Given the description of an element on the screen output the (x, y) to click on. 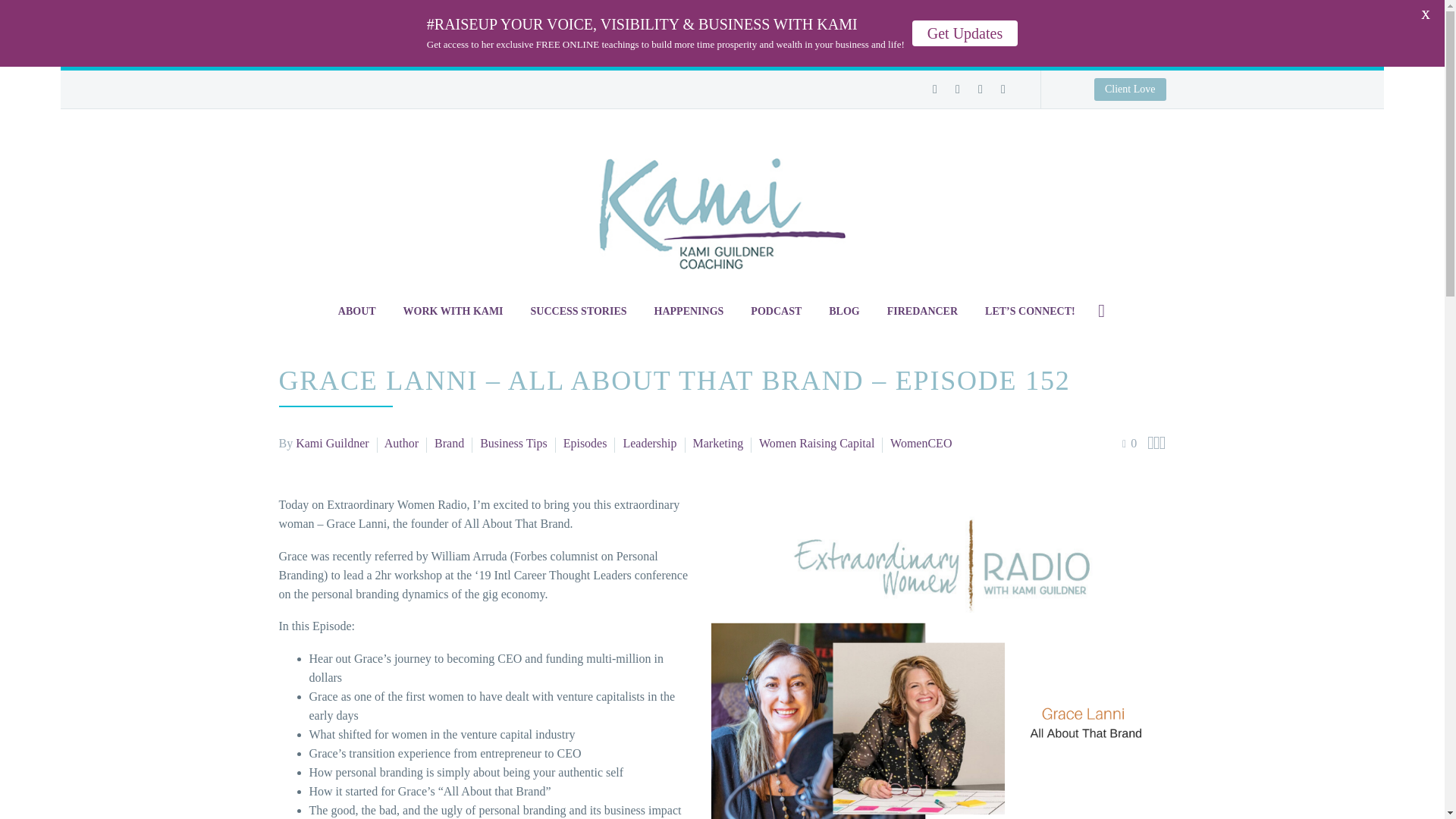
Kami Guildner (331, 442)
View all posts in Women Raising Capital (816, 442)
Brand (448, 442)
YouTube (1002, 89)
0 (1129, 442)
View all posts in Author (401, 442)
HAPPENINGS (689, 311)
BLOG (843, 311)
SUCCESS STORIES (579, 311)
Client Love (722, 87)
s (1254, 391)
FIREDANCER (922, 311)
Business Tips (513, 442)
Previous post (1150, 442)
Author (401, 442)
